Given the description of an element on the screen output the (x, y) to click on. 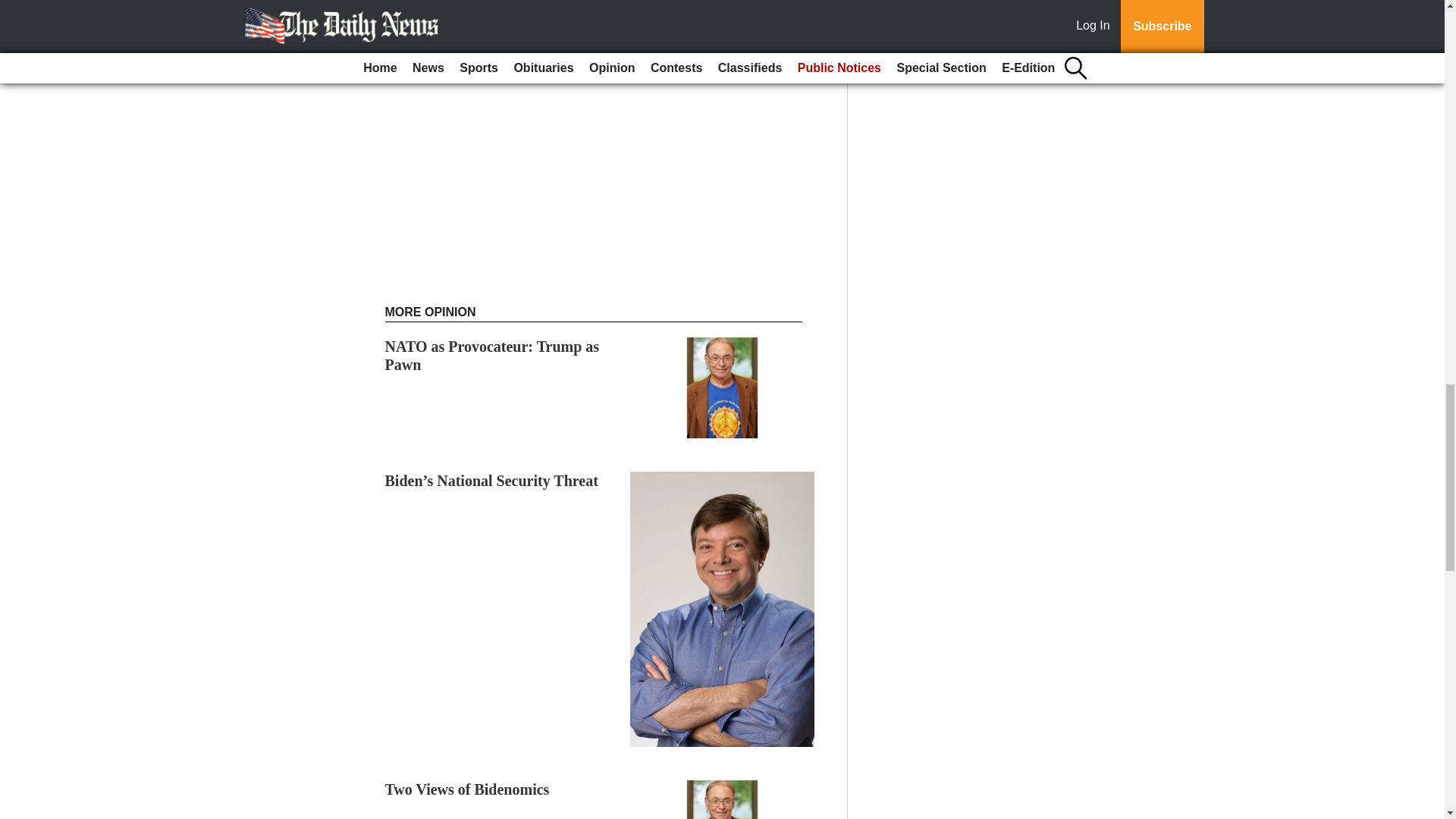
Two Views of Bidenomics (467, 789)
NATO as Provocateur: Trump as Pawn (492, 355)
Two Views of Bidenomics (467, 789)
NATO as Provocateur: Trump as Pawn (492, 355)
